Given the description of an element on the screen output the (x, y) to click on. 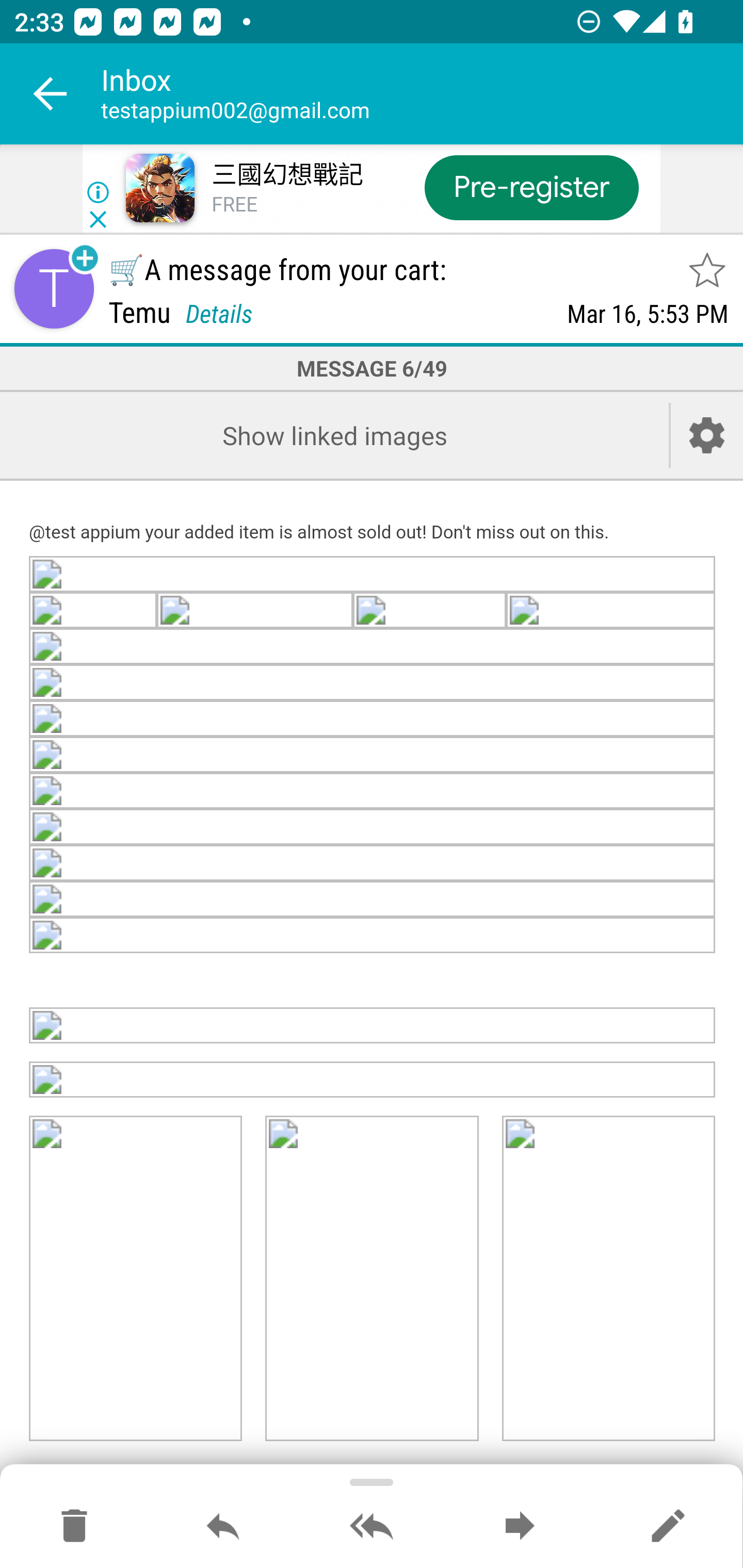
Navigate up (50, 93)
Inbox testappium002@gmail.com (422, 93)
Pre-register (530, 187)
三國幻想戰記 (287, 175)
FREE (234, 204)
Sender contact button (53, 289)
Show linked images (334, 435)
Account setup (706, 435)
data: (372, 575)
data: (93, 611)
data: (254, 611)
data: (429, 611)
data: (610, 611)
data: (372, 647)
data: (372, 718)
data: (372, 791)
data: (372, 827)
data: (372, 863)
data: (372, 899)
data: (372, 935)
data: (372, 1025)
mbs_landing_goods (372, 1080)
mbs_landing_goods (135, 1279)
mbs_landing_goods (371, 1279)
mbs_landing_goods (608, 1279)
Move to Deleted (74, 1527)
Reply (222, 1527)
Reply all (371, 1527)
Forward (519, 1527)
Reply as new (667, 1527)
